Given the description of an element on the screen output the (x, y) to click on. 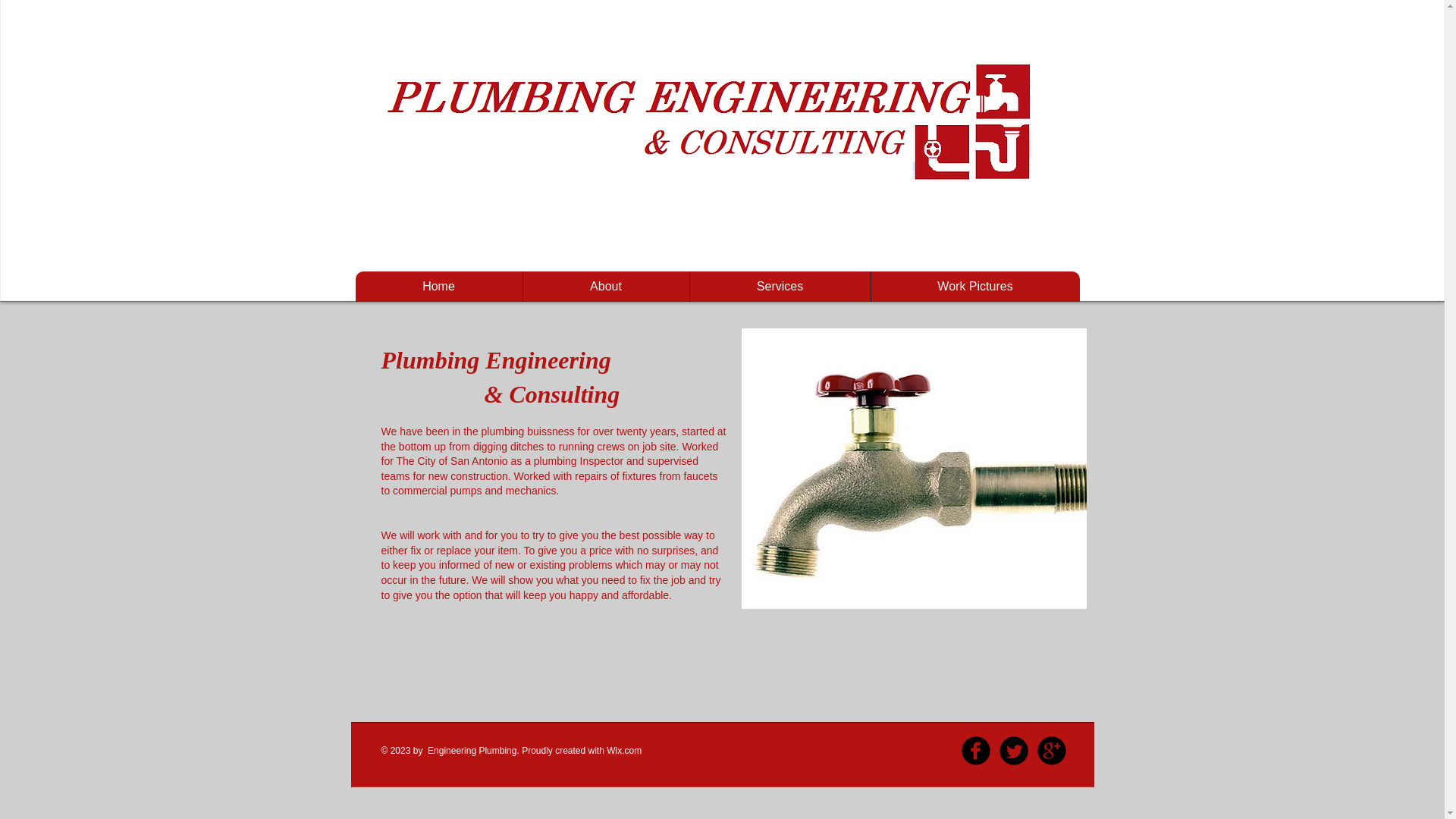
About (604, 286)
Wix.com (624, 750)
Home (438, 286)
Work Pictures (975, 286)
Services (778, 286)
